Given the description of an element on the screen output the (x, y) to click on. 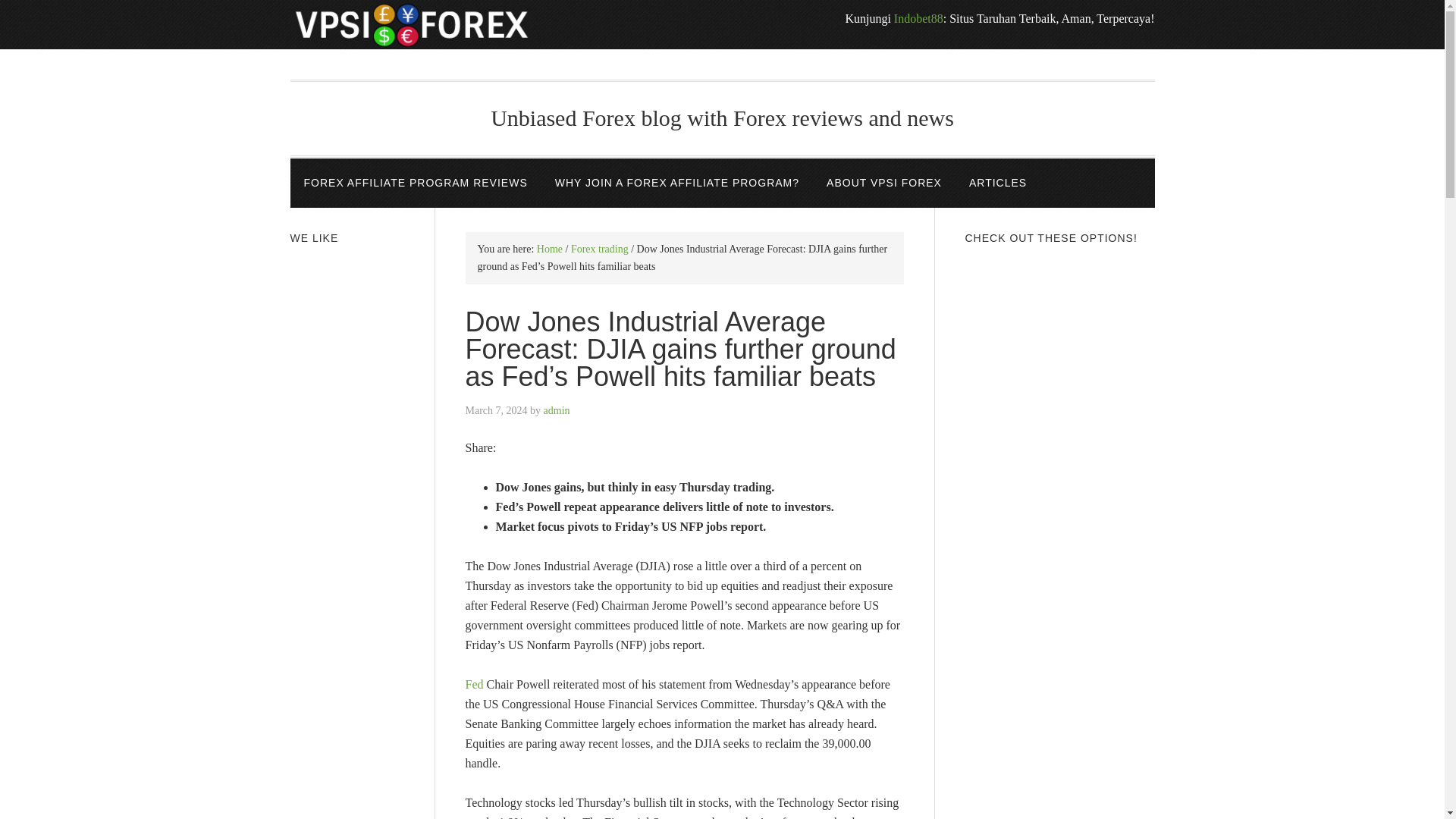
FOREX AFFILIATE PROGRAM REVIEWS (414, 183)
Home (549, 248)
Forex trading (599, 248)
ARTICLES (998, 183)
WHY JOIN A FOREX AFFILIATE PROGRAM? (676, 183)
admin (556, 410)
Fed (474, 684)
ABOUT VPSI FOREX (883, 183)
Indobet88 (918, 18)
